Given the description of an element on the screen output the (x, y) to click on. 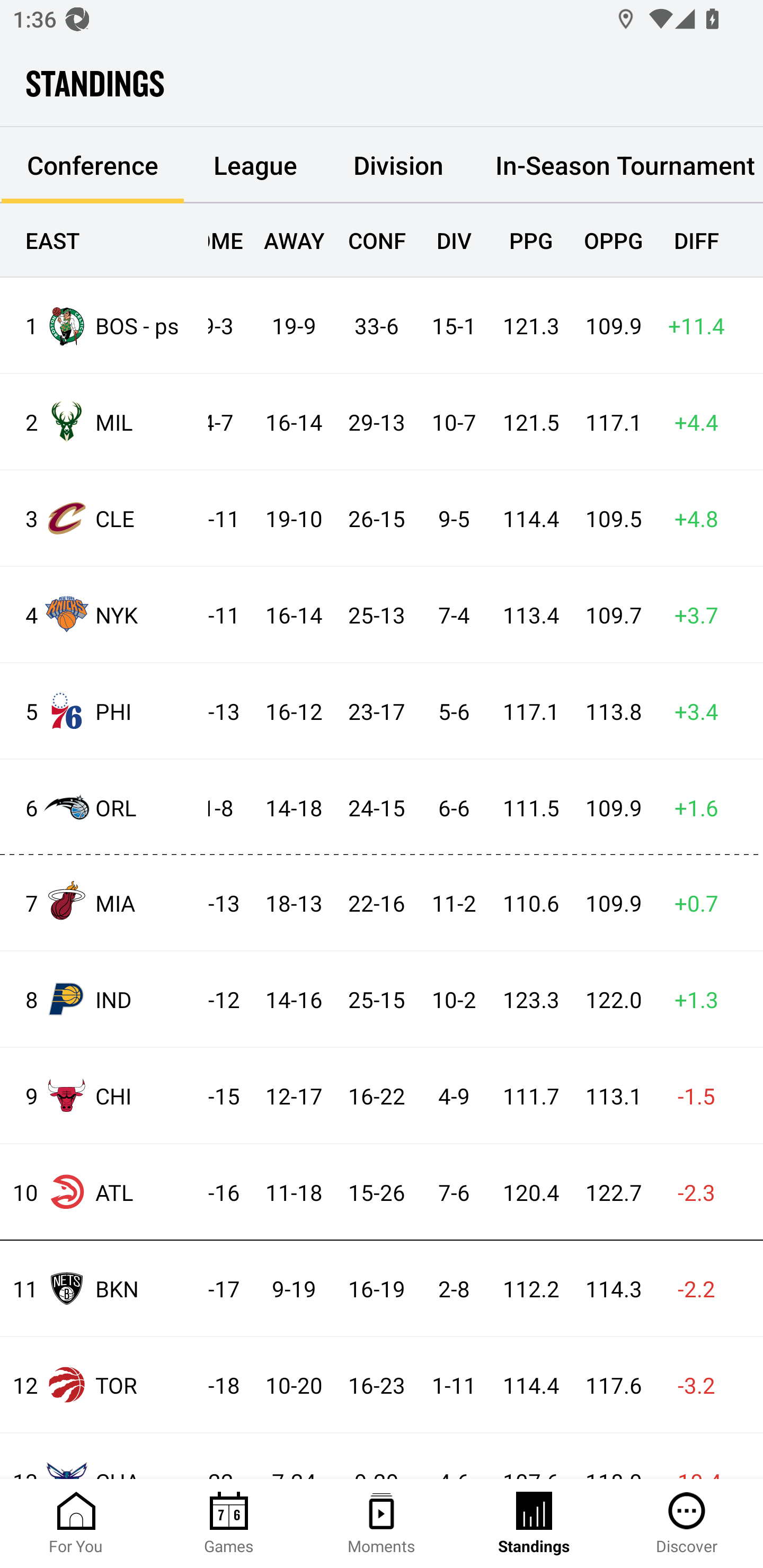
League (254, 165)
Division (398, 165)
In-Season Tournament (616, 165)
1 BOS - ps (104, 325)
2 MIL (104, 421)
3 CLE (104, 518)
4 NYK (104, 613)
5 PHI (104, 710)
6 ORL (104, 806)
7 MIA (104, 902)
8 IND (104, 999)
9 CHI (104, 1095)
10 ATL (104, 1192)
11 BKN (104, 1287)
12 TOR (104, 1385)
For You (76, 1523)
Games (228, 1523)
Moments (381, 1523)
Discover (686, 1523)
